Given the description of an element on the screen output the (x, y) to click on. 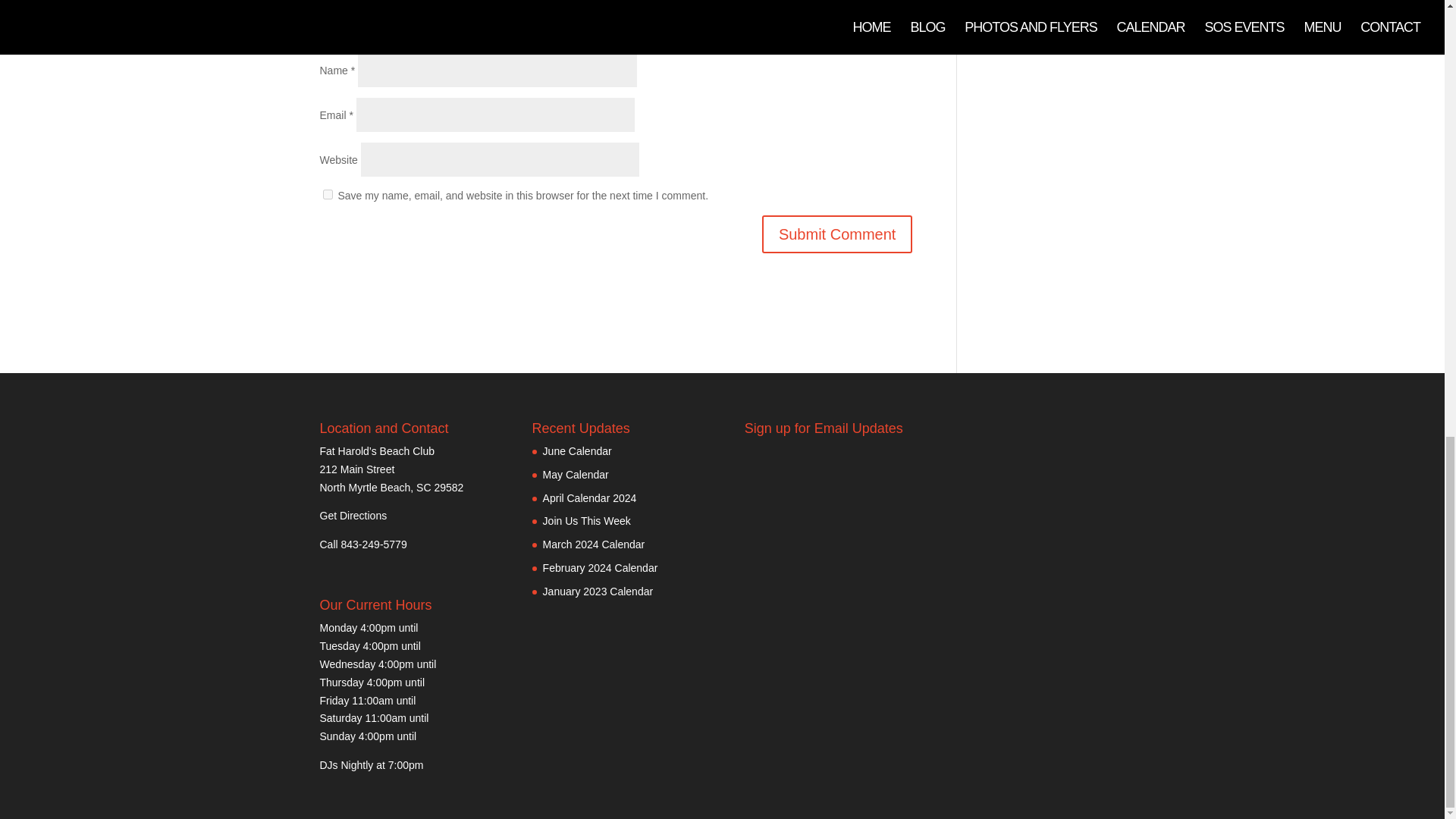
yes (328, 194)
Join Us This Week (586, 521)
May Calendar (575, 474)
Submit Comment (836, 234)
February 2024 Calendar (600, 567)
Submit Comment (836, 234)
January 2023 Calendar (598, 591)
June Calendar (577, 451)
Get Directions (353, 515)
April Calendar 2024 (590, 498)
